Given the description of an element on the screen output the (x, y) to click on. 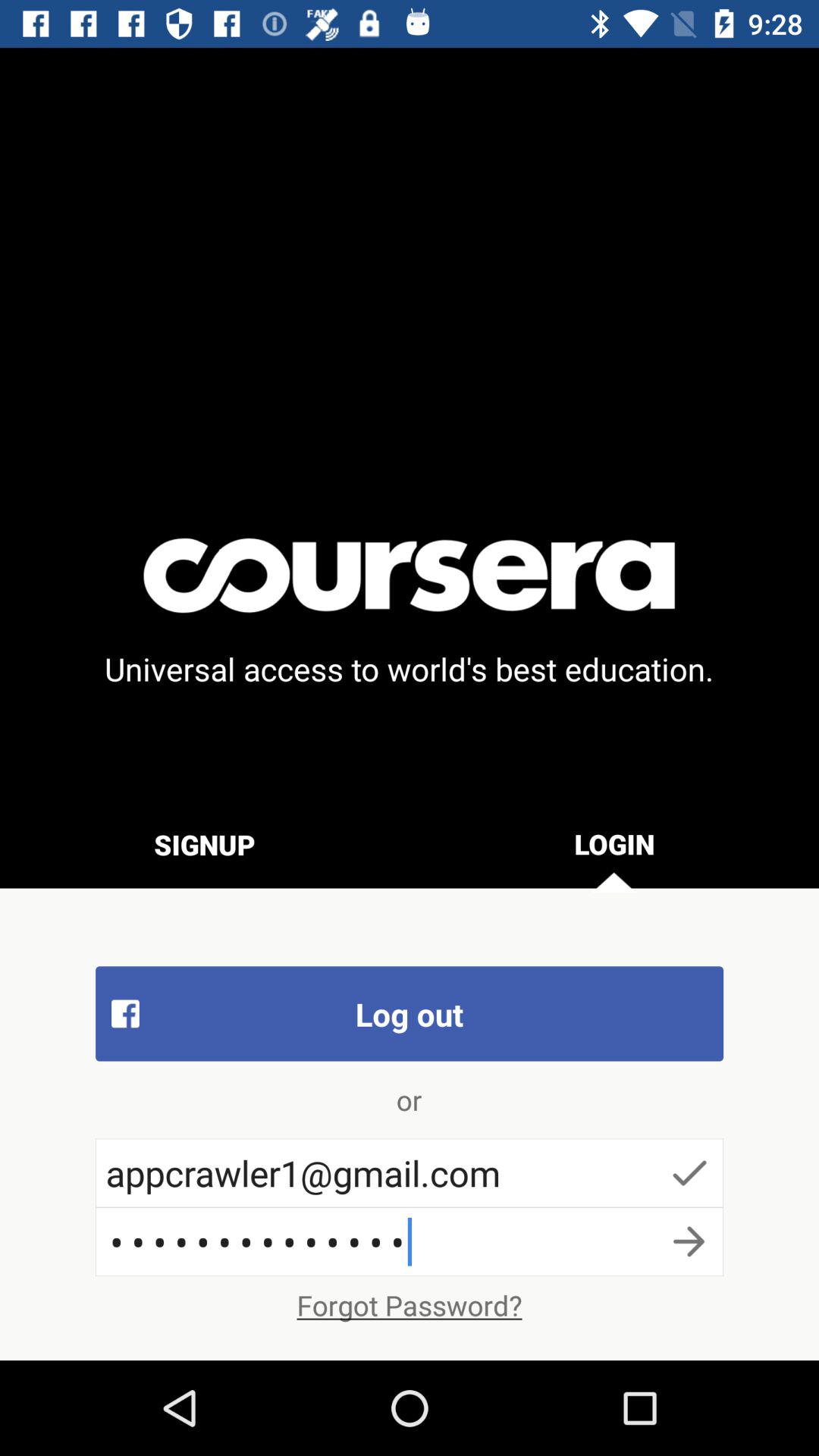
press the icon below the appcrawler3116 (409, 1305)
